Given the description of an element on the screen output the (x, y) to click on. 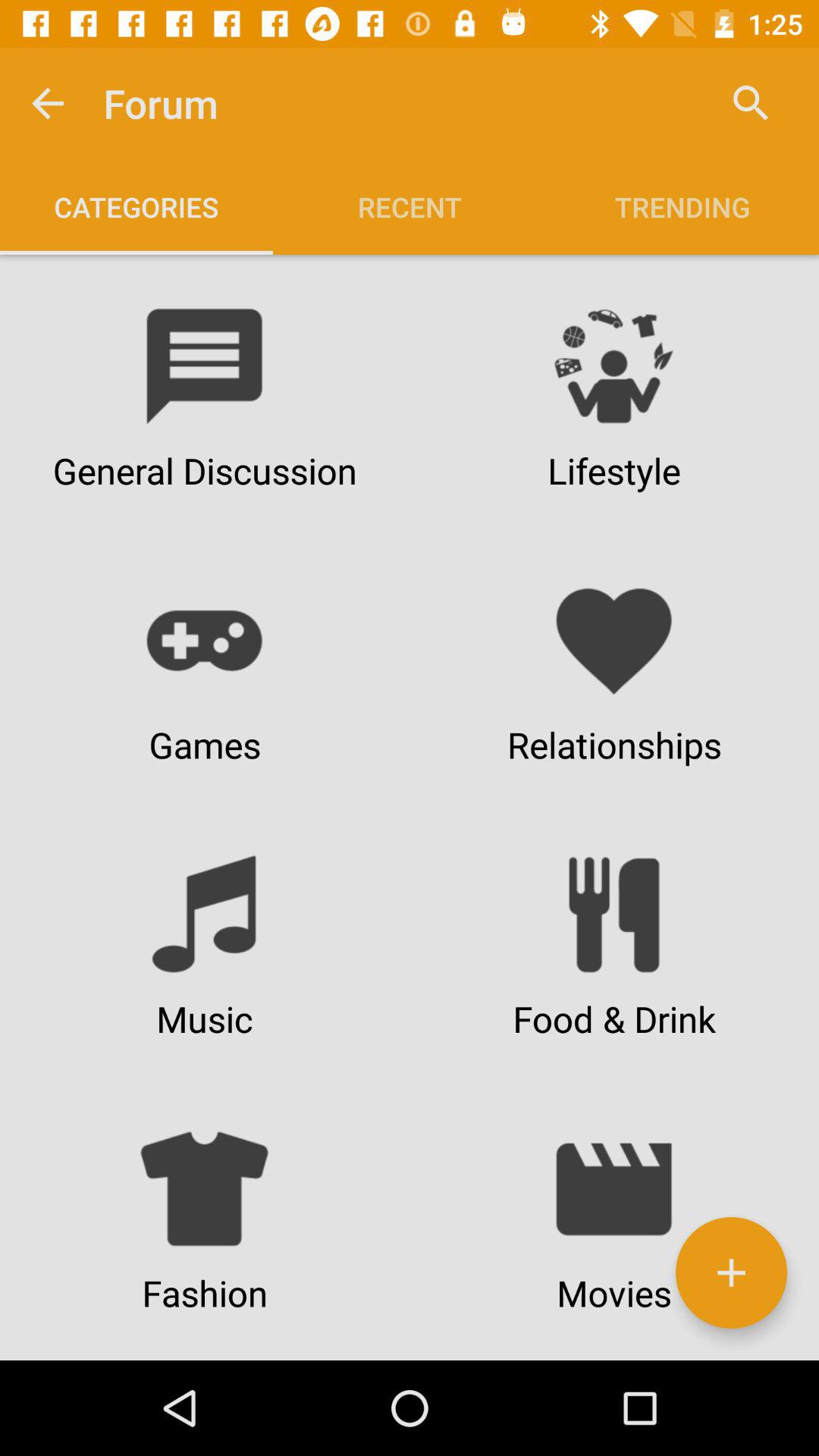
click the icon to the right of the forum app (751, 103)
